Given the description of an element on the screen output the (x, y) to click on. 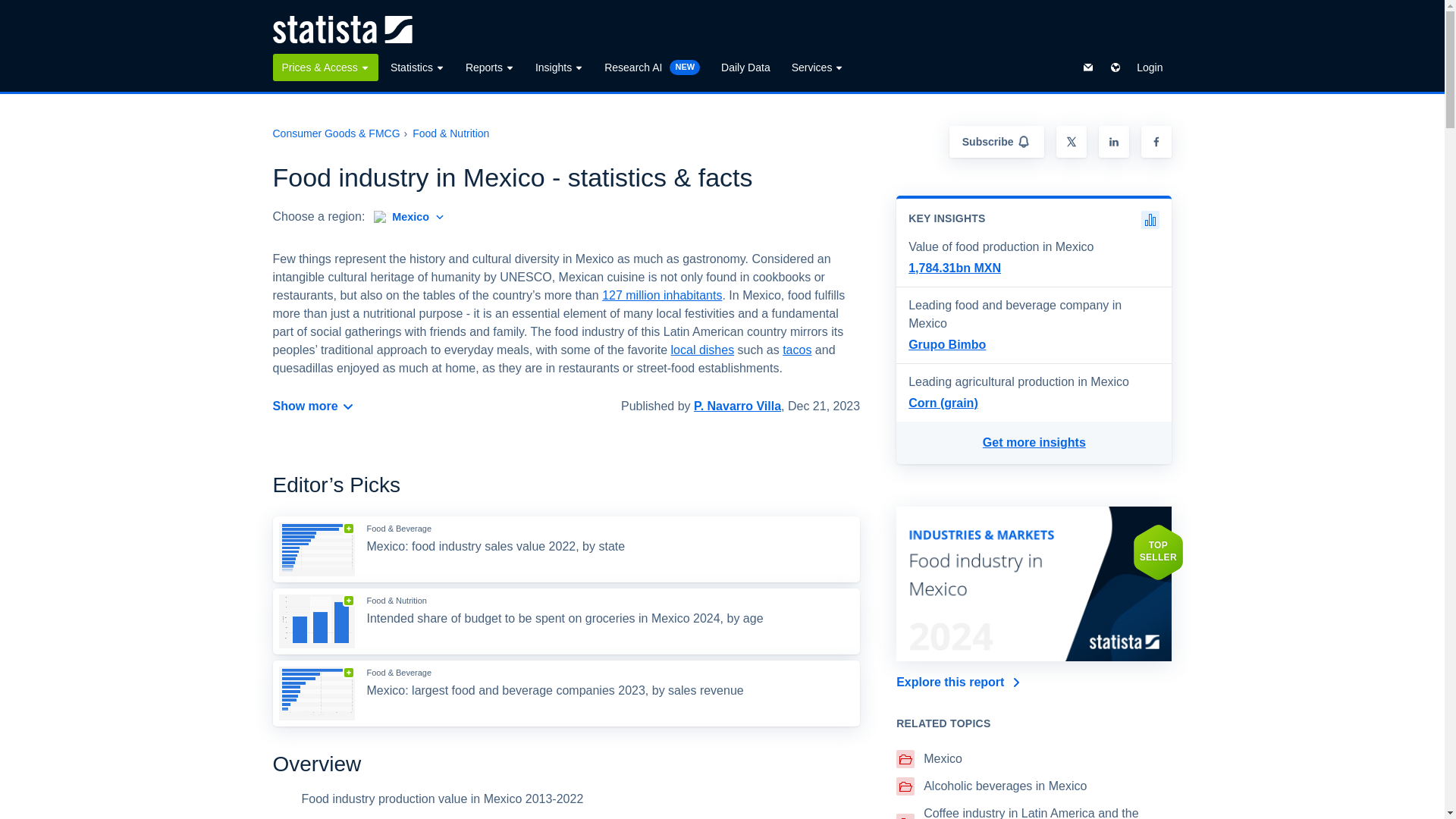
Reports (489, 67)
Login (1149, 67)
Statistics (416, 67)
Login (1149, 67)
Receive updates by e-mail (997, 142)
Skip to main content (12, 9)
